Given the description of an element on the screen output the (x, y) to click on. 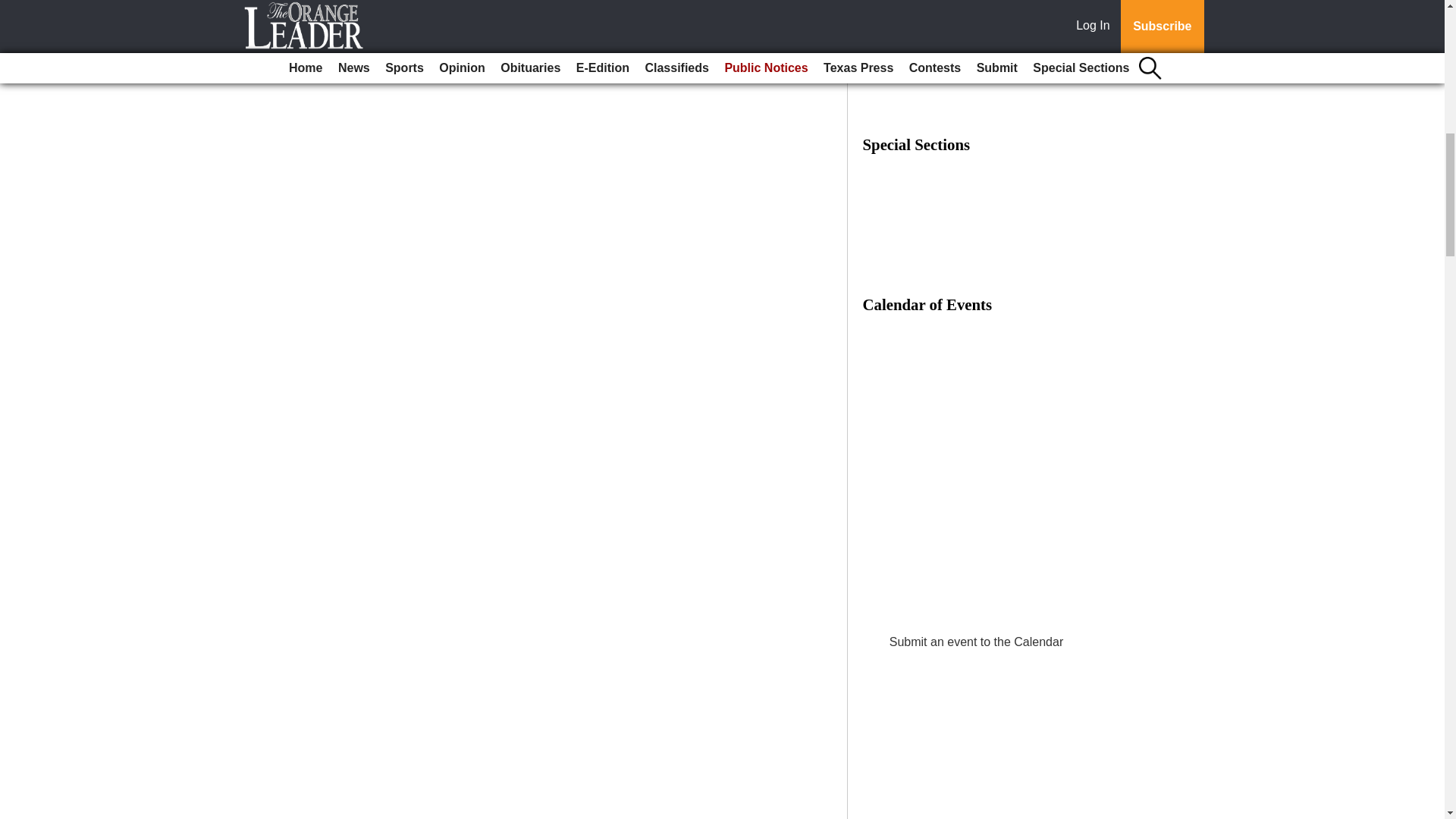
Submit an event to the Calendar (975, 641)
